Given the description of an element on the screen output the (x, y) to click on. 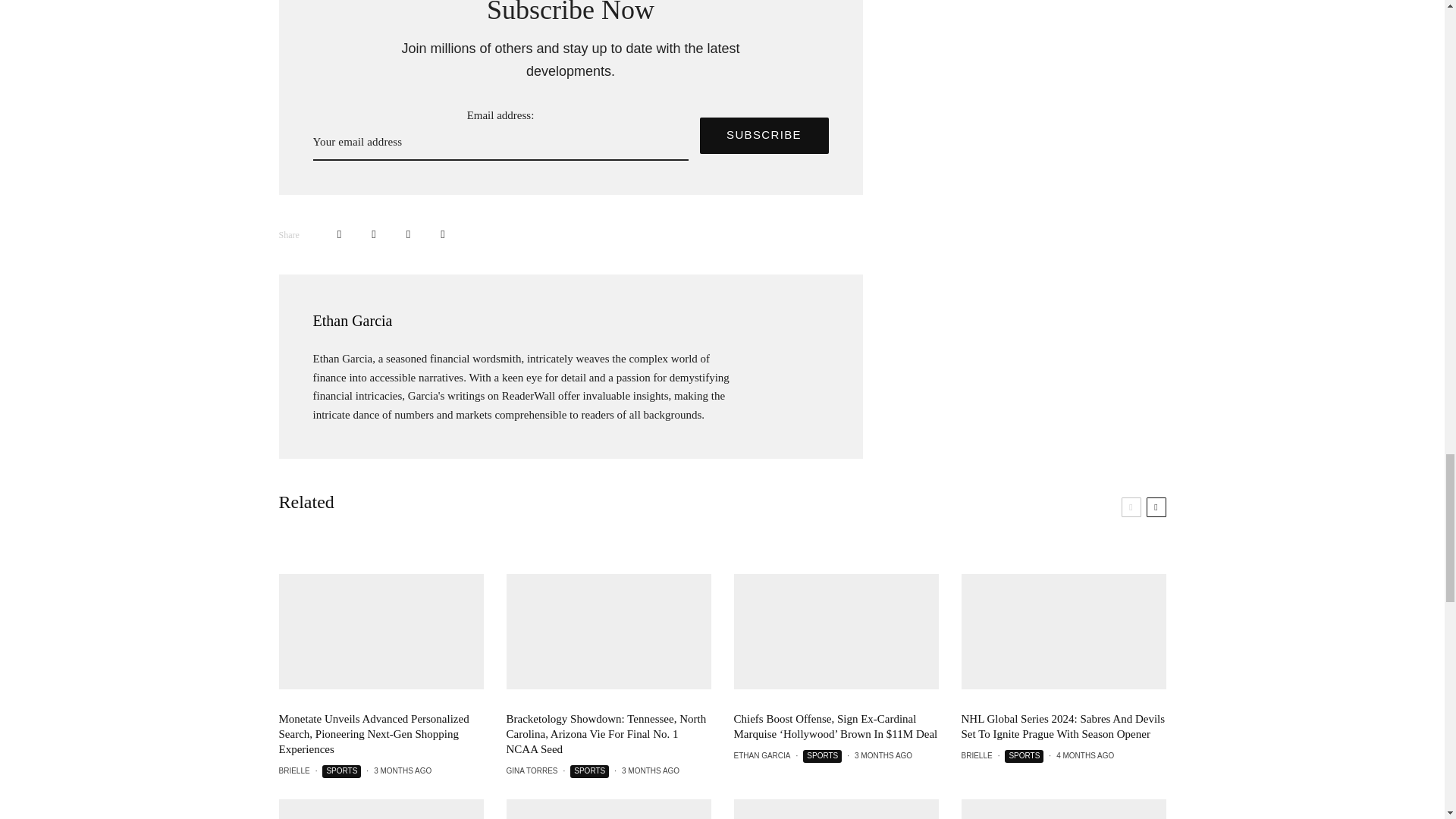
subscribe (763, 135)
